Given the description of an element on the screen output the (x, y) to click on. 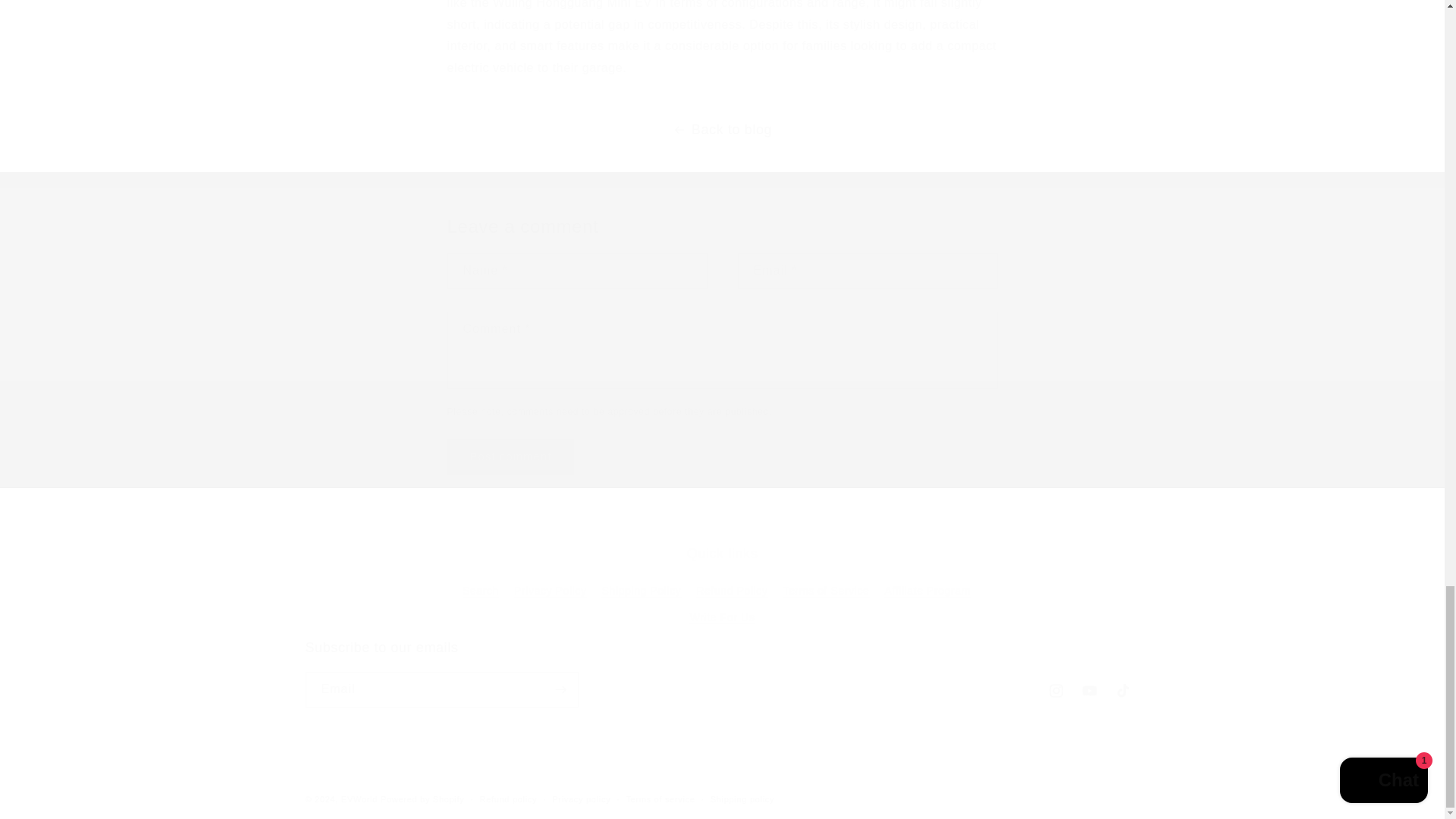
Post comment (510, 456)
